Given the description of an element on the screen output the (x, y) to click on. 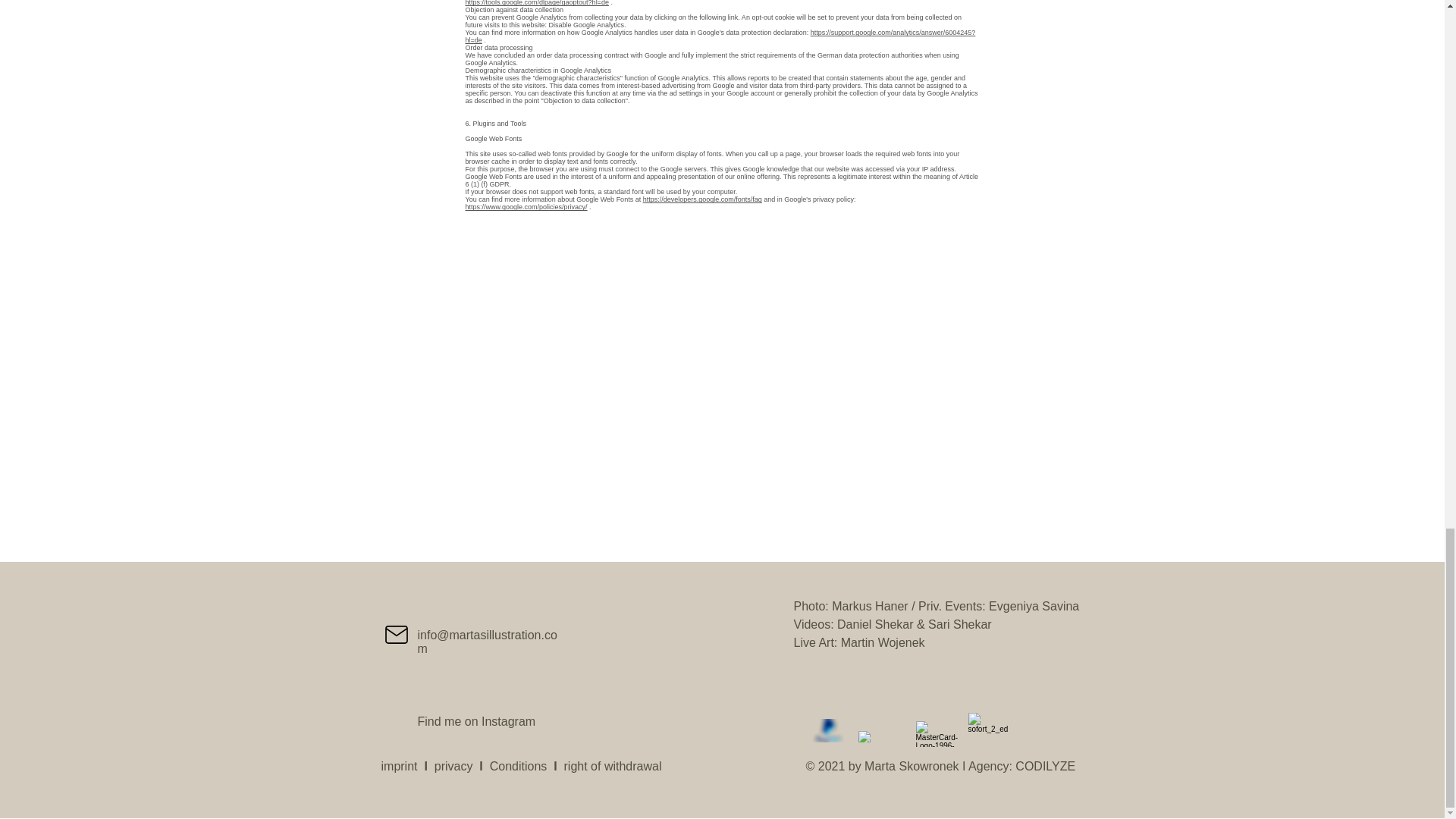
privacy (453, 766)
I (480, 766)
Conditions (518, 766)
I (424, 766)
imprint (398, 766)
I (554, 766)
CODILYZE (1044, 766)
right of withdrawal (613, 766)
mastercard.png (938, 733)
download.png (880, 736)
